Given the description of an element on the screen output the (x, y) to click on. 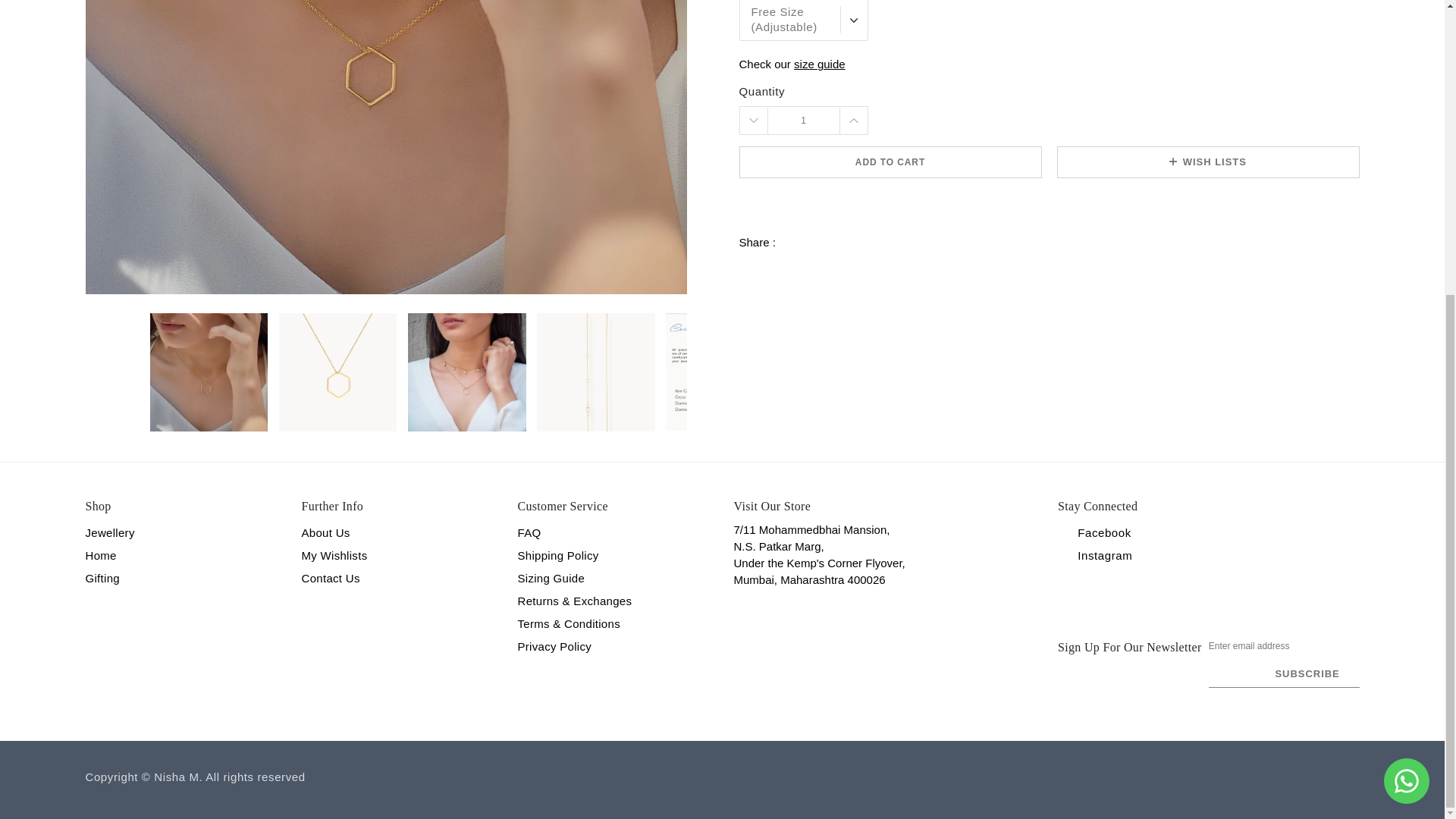
Home (100, 554)
1 (803, 120)
Jewellery (108, 532)
